Given the description of an element on the screen output the (x, y) to click on. 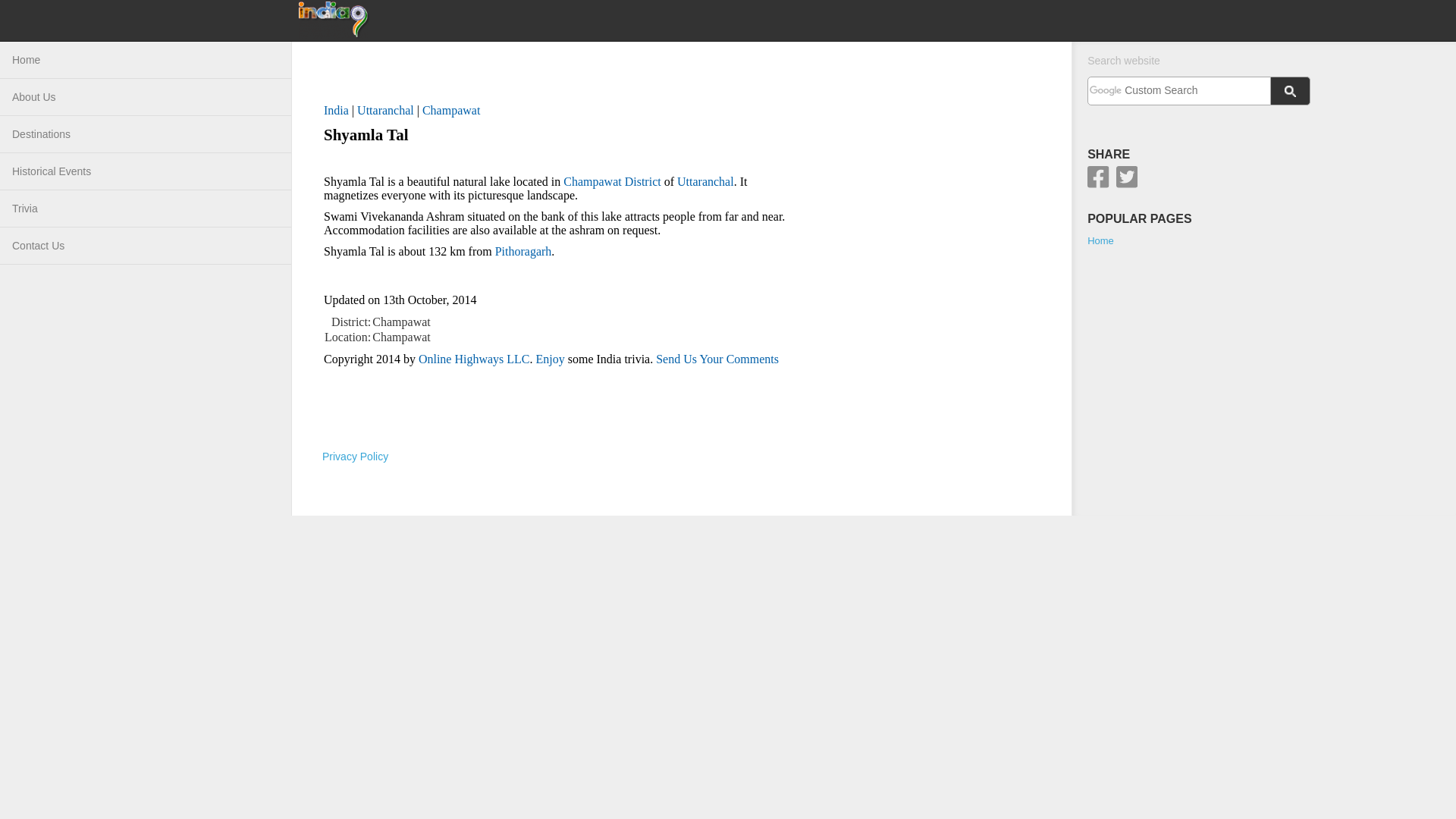
Pithoragarh (523, 250)
Destinations (145, 134)
State (384, 110)
search (1290, 90)
Contact Us (145, 245)
About Us (145, 97)
search (1178, 90)
Online Highways LLC (474, 358)
Trivia (145, 208)
Privacy Policy (354, 456)
